Given the description of an element on the screen output the (x, y) to click on. 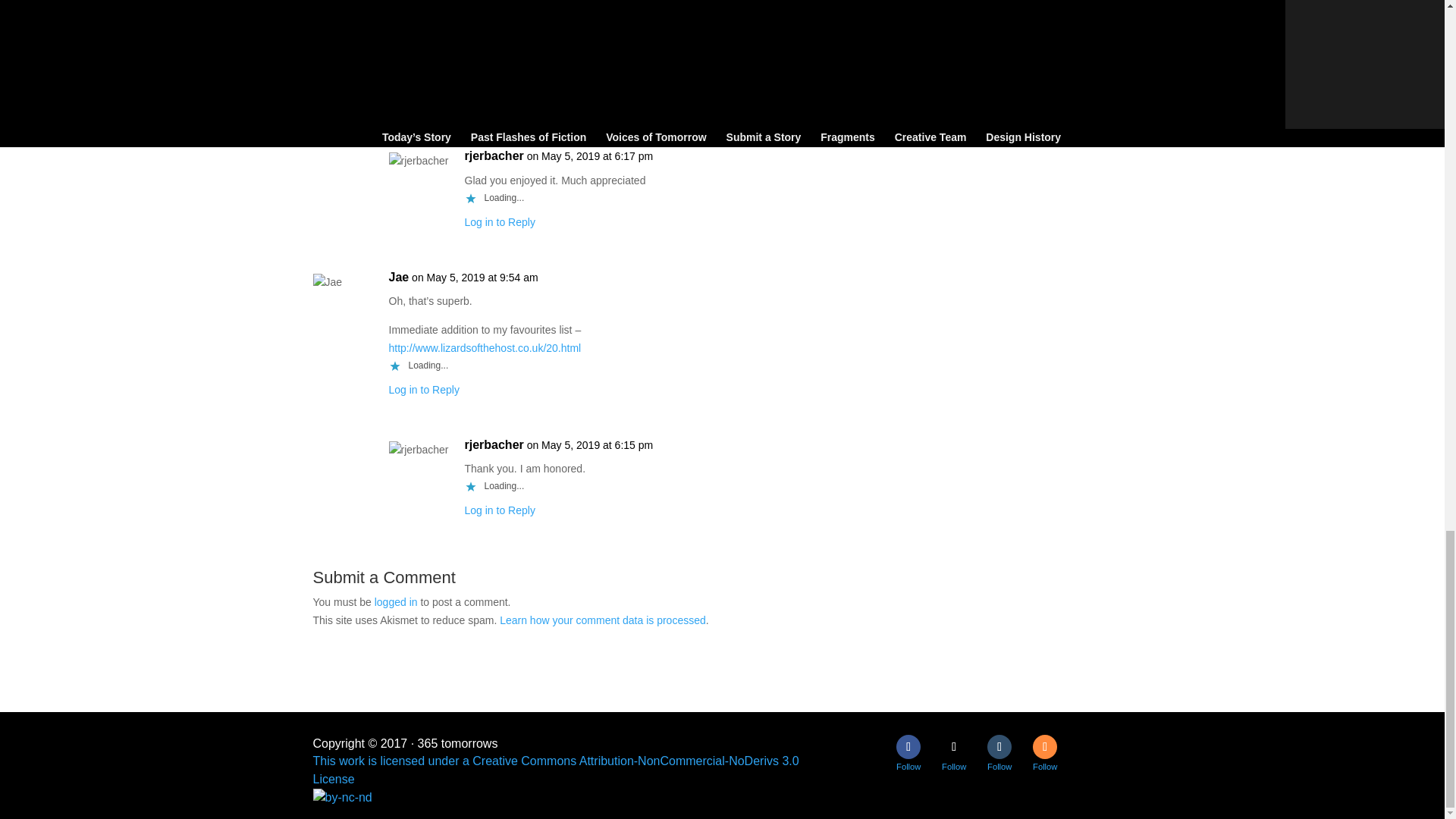
Follow on RSS (1044, 746)
Log in to Reply (423, 389)
Follow on Twitter (954, 746)
Log in to Reply (499, 510)
Hari Navarro (424, 17)
Log in to Reply (499, 222)
Follow on Facebook (908, 746)
Jae (398, 277)
logged in (395, 602)
Log in to Reply (423, 101)
Follow on tumblr (999, 746)
Learn how your comment data is processed (602, 620)
